Given the description of an element on the screen output the (x, y) to click on. 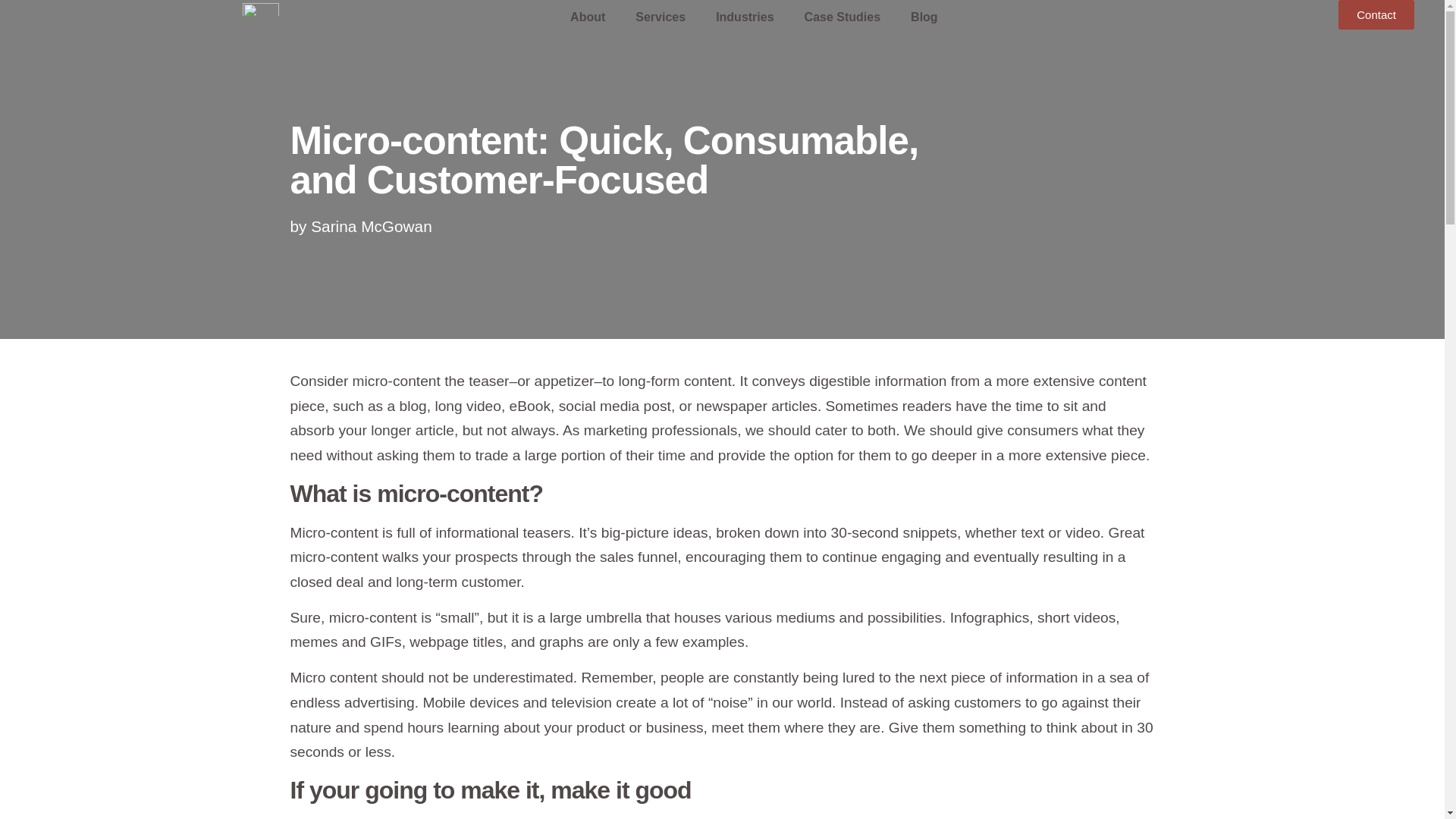
About (587, 17)
Contact (1375, 14)
Services (660, 17)
Industries (744, 17)
Blog (924, 17)
Case Studies (842, 17)
